Given the description of an element on the screen output the (x, y) to click on. 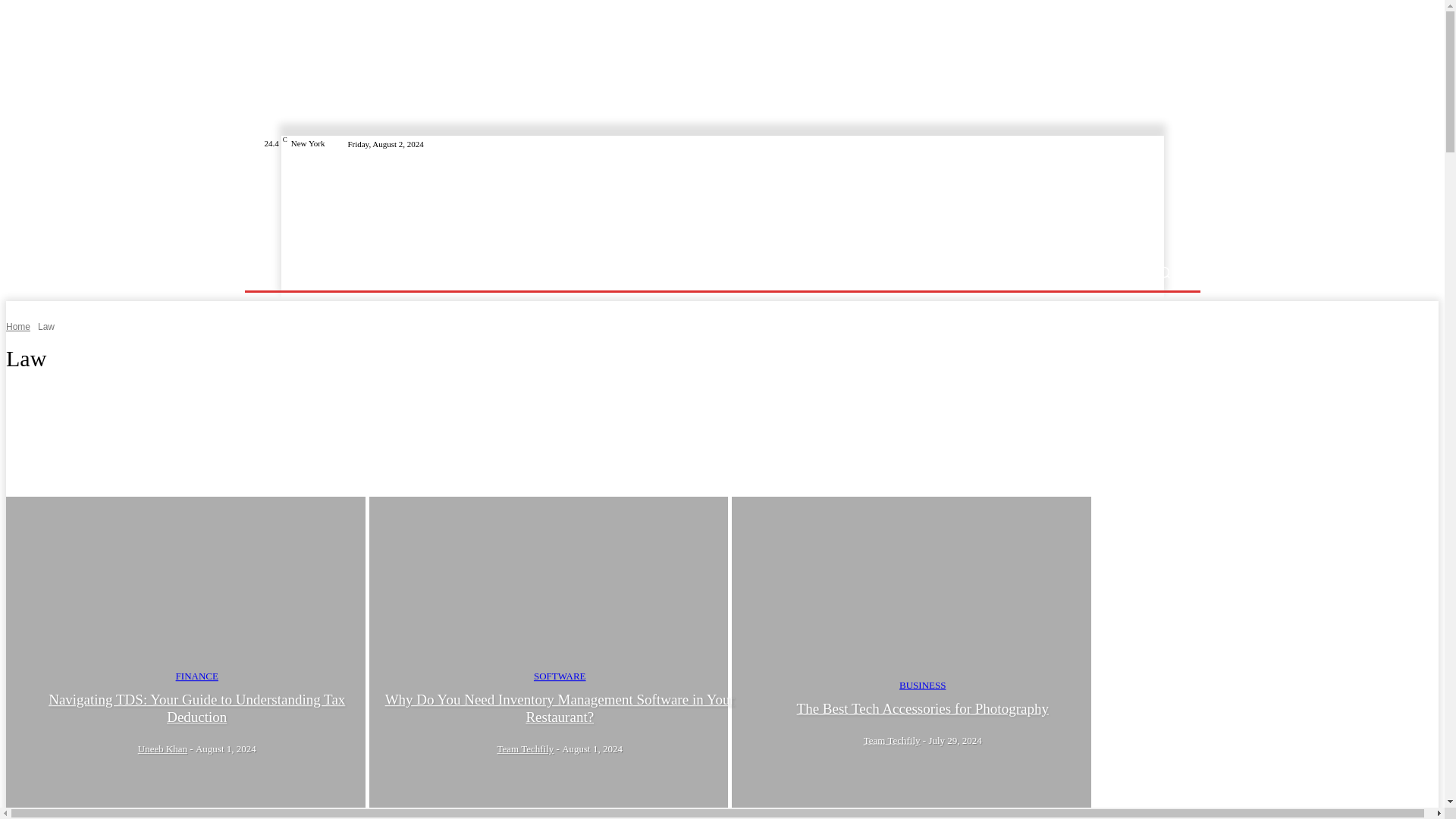
Business (395, 271)
Contact Us (693, 271)
Home (17, 326)
Crypto (446, 271)
Digital Marketing (613, 271)
Home (307, 271)
Navigating TDS: Your Guide to Understanding Tax Deduction (185, 657)
FINANCE (197, 675)
Navigating TDS: Your Guide to Understanding Tax Deduction (196, 707)
Uneeb Khan (162, 748)
Tech (348, 271)
